Given the description of an element on the screen output the (x, y) to click on. 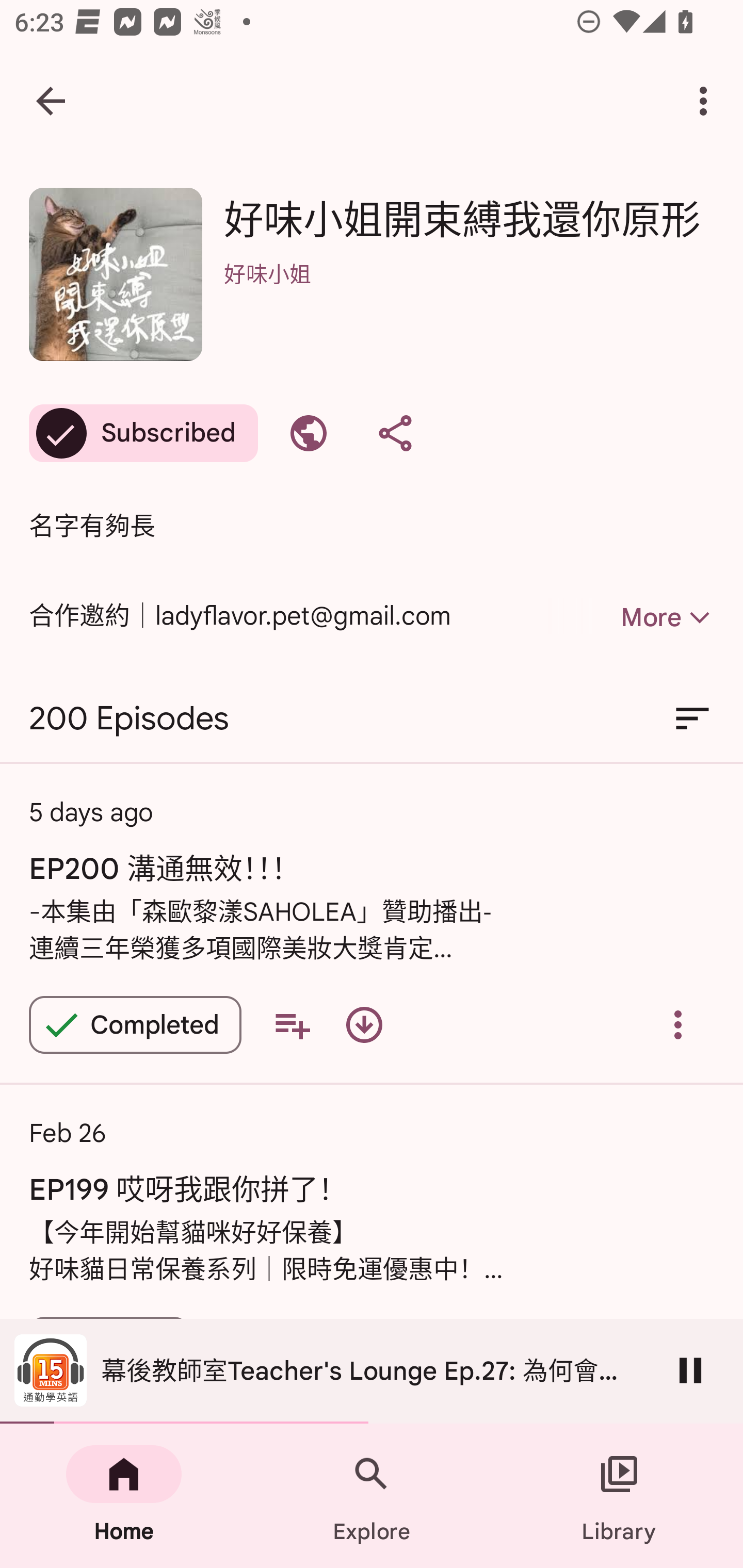
Navigate up (50, 101)
More options (706, 101)
好味小姐 (468, 300)
Subscribed (142, 433)
Visit website (308, 433)
Share (395, 433)
More (631, 616)
Sort (692, 718)
Play episode EP200 溝通無效！！！ Completed (134, 1024)
Add to your queue (291, 1024)
Download episode (364, 1024)
Overflow menu (677, 1024)
Pause (690, 1370)
Explore (371, 1495)
Library (619, 1495)
